Given the description of an element on the screen output the (x, y) to click on. 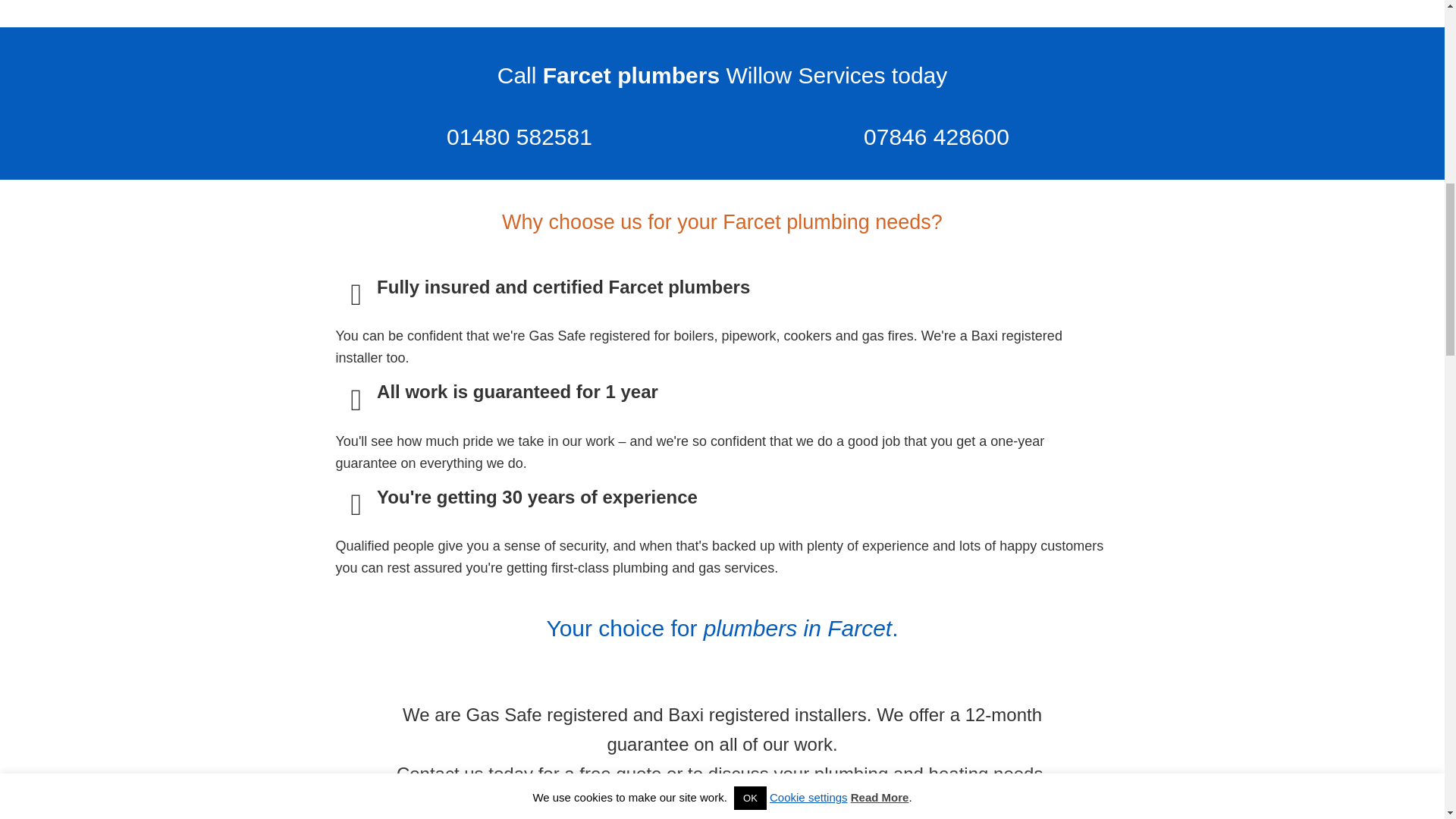
07846 428600 (936, 137)
01480 582581 (519, 137)
